Given the description of an element on the screen output the (x, y) to click on. 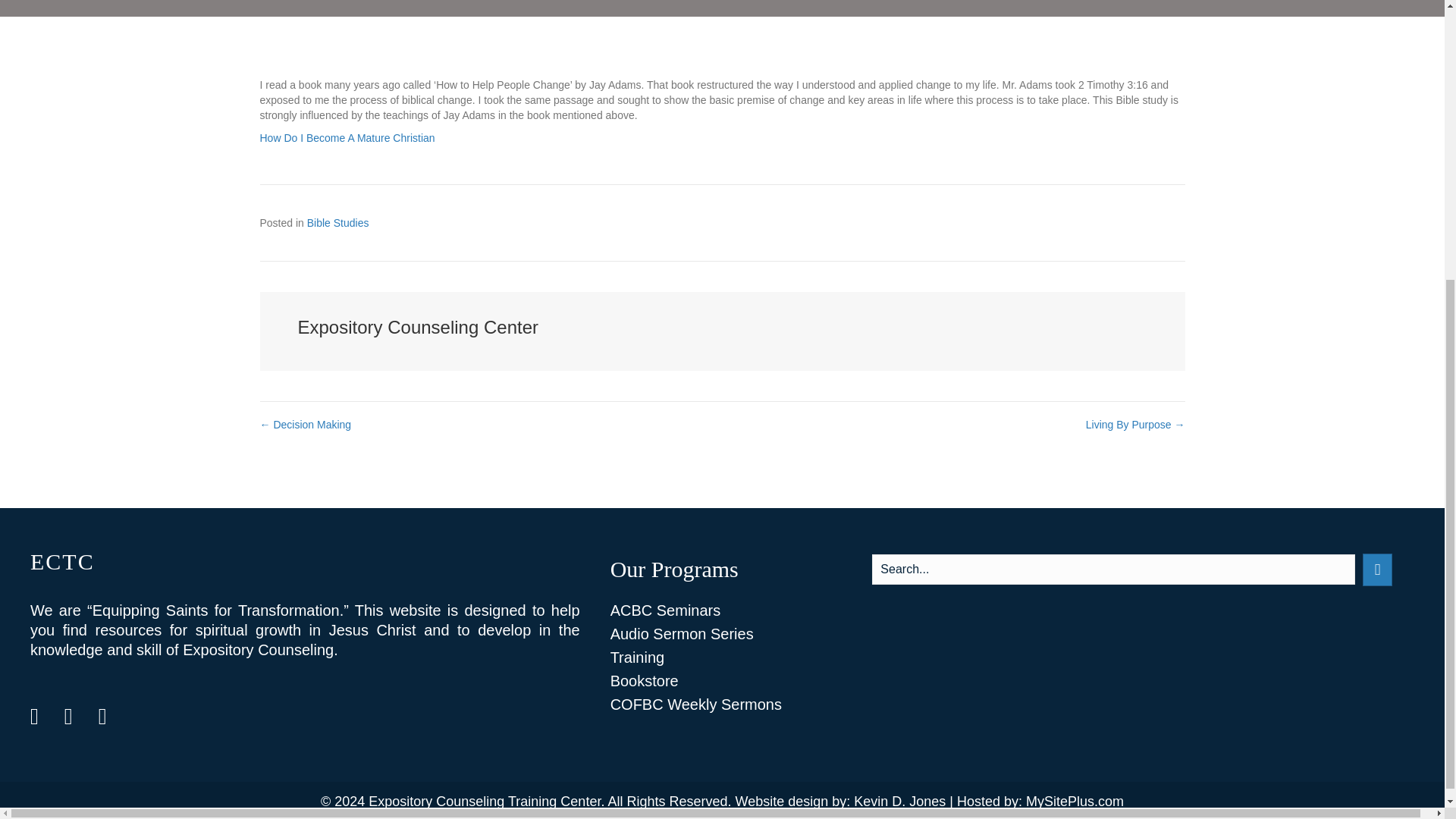
How Do I Become A Mature Christian (346, 137)
ACBC Seminars (722, 609)
Training (722, 657)
Audio Sermon Series (722, 633)
Bookstore (722, 680)
Bible Studies (338, 223)
